Given the description of an element on the screen output the (x, y) to click on. 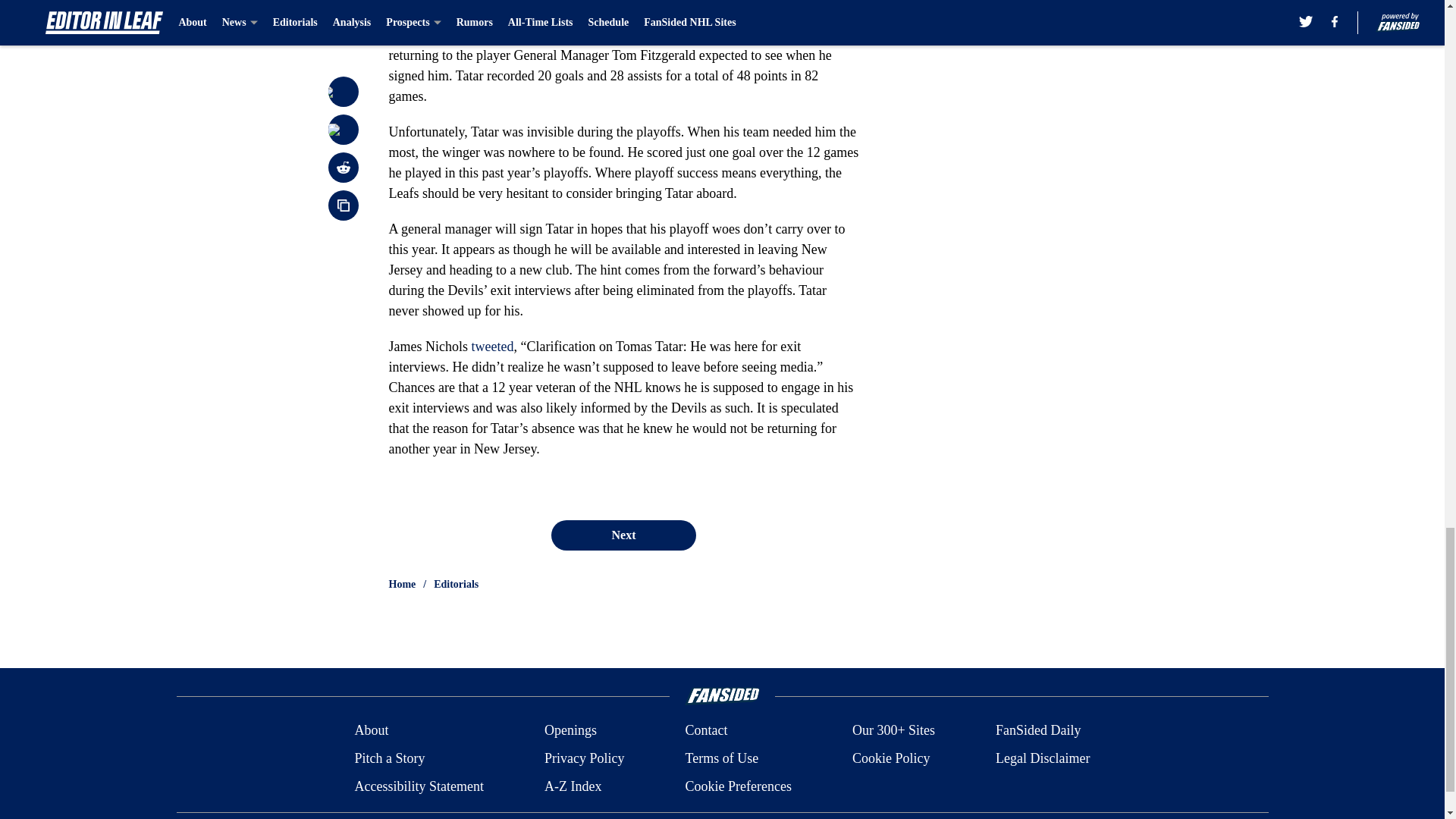
Privacy Policy (584, 758)
Next (622, 535)
Editorials (456, 584)
About (370, 730)
Contact (705, 730)
Pitch a Story (389, 758)
Cookie Policy (890, 758)
tweeted (491, 346)
Home (401, 584)
Openings (570, 730)
